Given the description of an element on the screen output the (x, y) to click on. 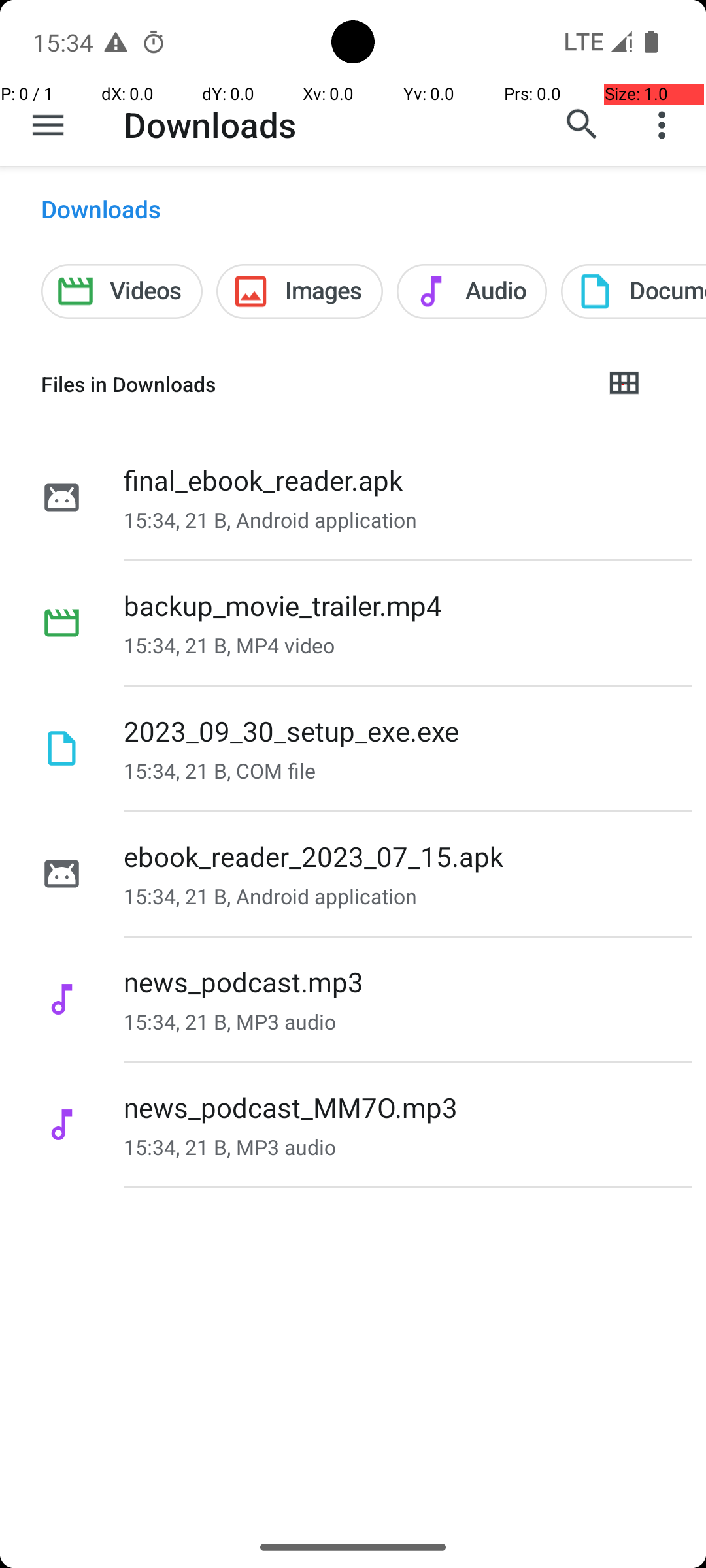
Grid view Element type: android.widget.TextView (622, 384)
final_ebook_reader.apk Element type: android.widget.TextView (263, 479)
15:34, 21 B, Android application Element type: android.widget.TextView (270, 519)
backup_movie_trailer.mp4 Element type: android.widget.TextView (282, 604)
15:34, 21 B, MP4 video Element type: android.widget.TextView (228, 645)
2023_09_30_setup_exe.exe Element type: android.widget.TextView (291, 730)
15:34, 21 B, COM file Element type: android.widget.TextView (219, 770)
ebook_reader_2023_07_15.apk Element type: android.widget.TextView (313, 855)
news_podcast.mp3 Element type: android.widget.TextView (243, 981)
15:34, 21 B, MP3 audio Element type: android.widget.TextView (229, 1021)
news_podcast_MM7O.mp3 Element type: android.widget.TextView (290, 1106)
